Given the description of an element on the screen output the (x, y) to click on. 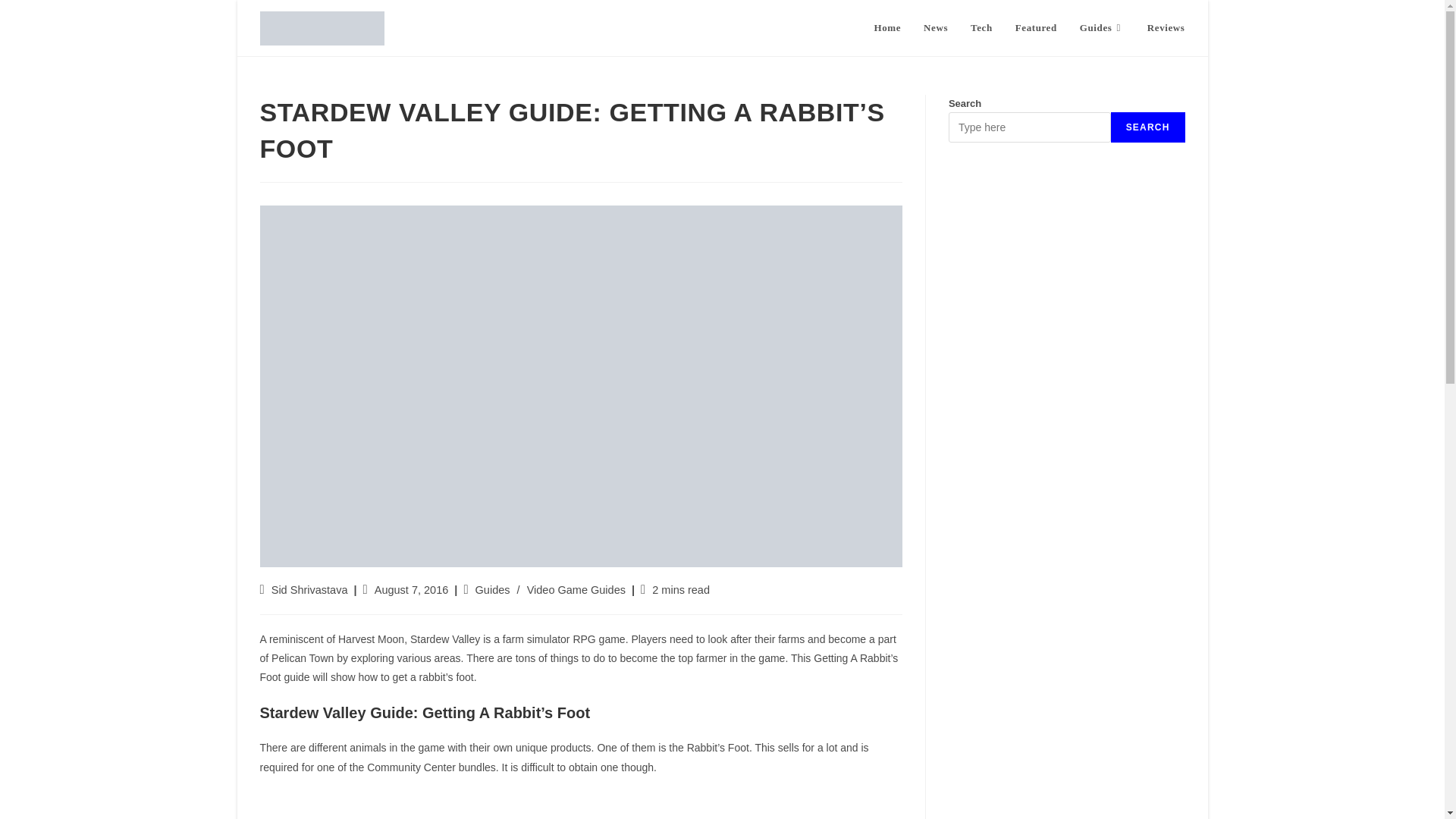
SEARCH (1147, 127)
Sid Shrivastava (308, 589)
Featured (1036, 22)
Reviews (1165, 22)
Tech (981, 22)
News (935, 22)
Home (886, 22)
Guides (493, 589)
Guides (1101, 22)
Video Game Guides (576, 589)
Posts by Sid Shrivastava (308, 589)
